Given the description of an element on the screen output the (x, y) to click on. 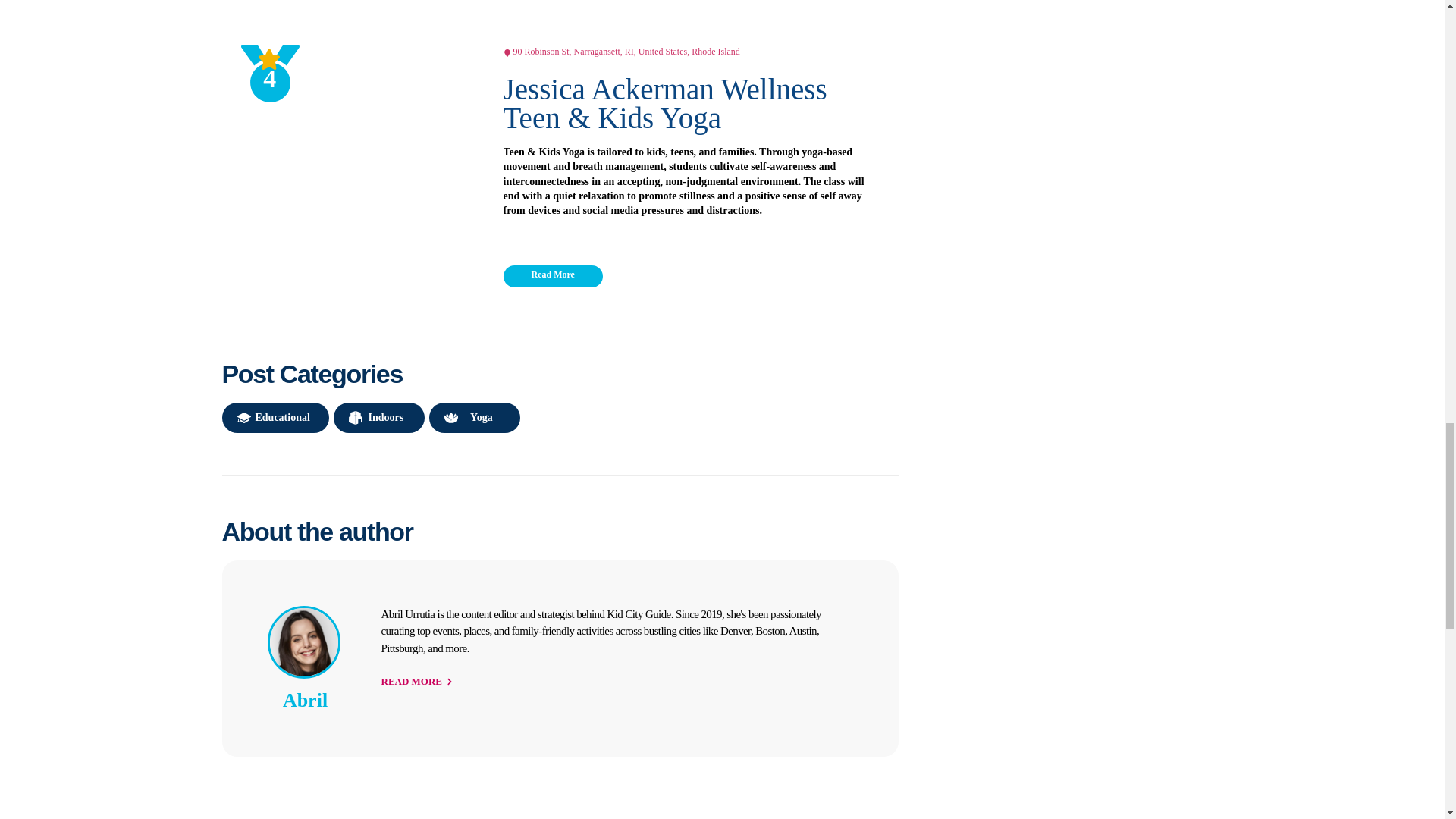
4 (348, 166)
Read More (552, 276)
